Given the description of an element on the screen output the (x, y) to click on. 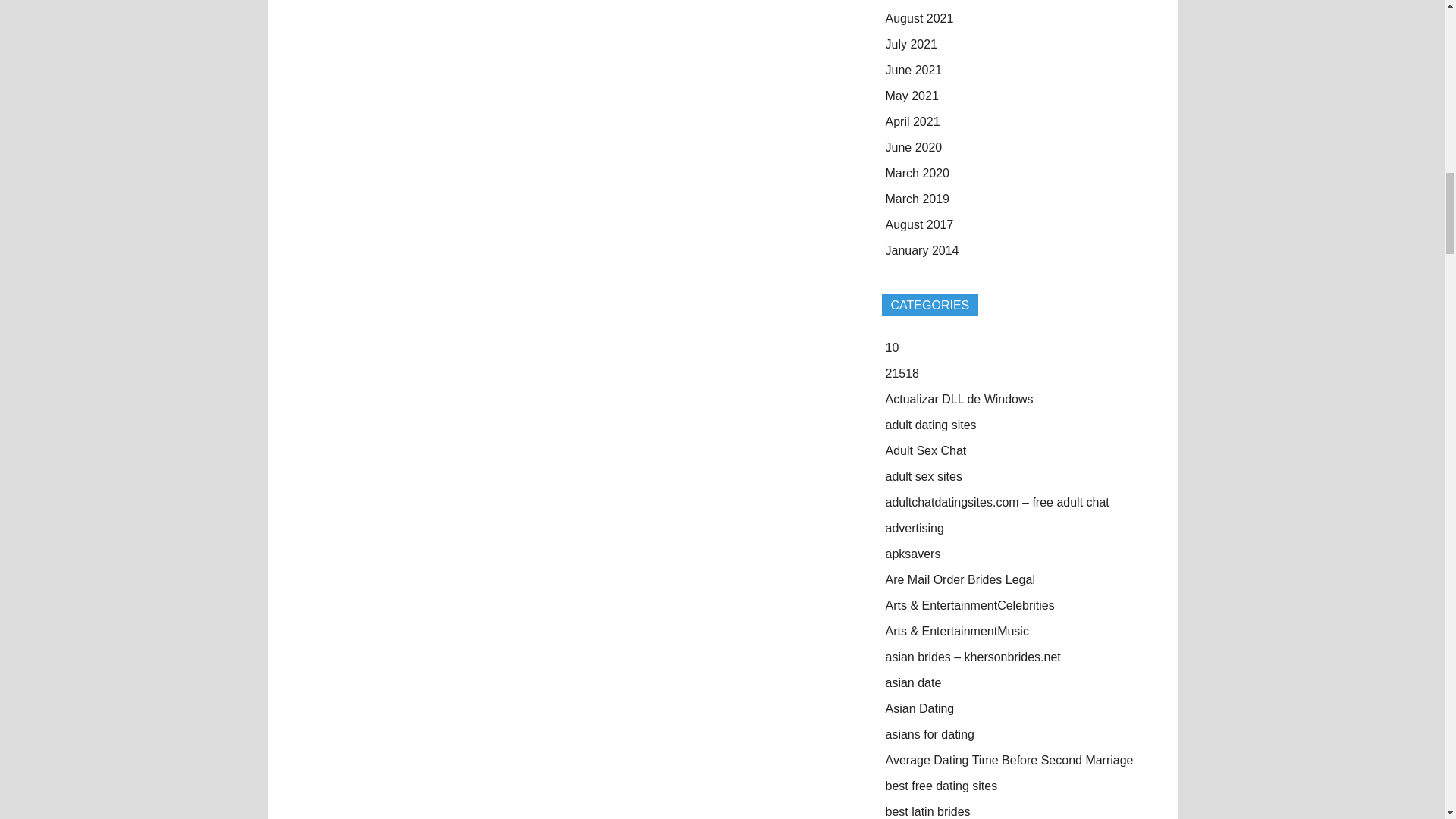
advertising (914, 527)
